Given the description of an element on the screen output the (x, y) to click on. 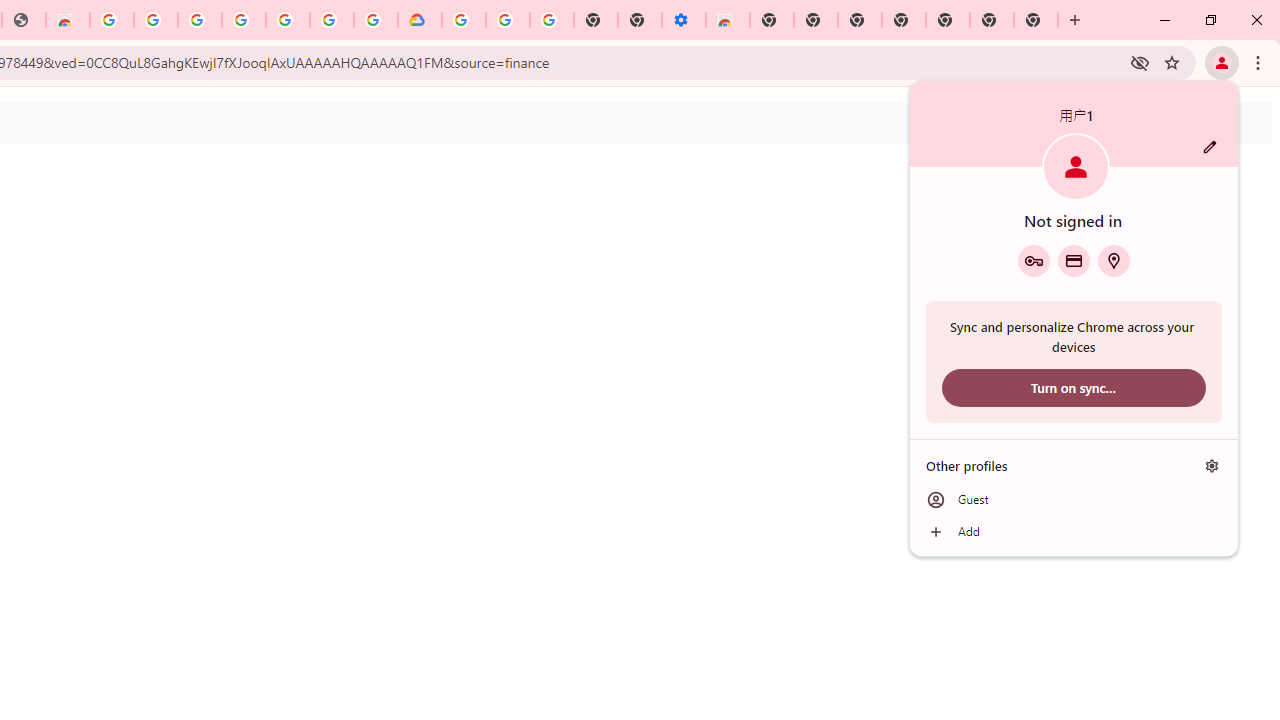
Manage profiles (1211, 465)
Add (1073, 531)
New Tab (1035, 20)
Chrome Web Store - Accessibility extensions (728, 20)
Sign in - Google Accounts (199, 20)
Google Account Help (507, 20)
New Tab (771, 20)
Addresses and more (1114, 260)
